Given the description of an element on the screen output the (x, y) to click on. 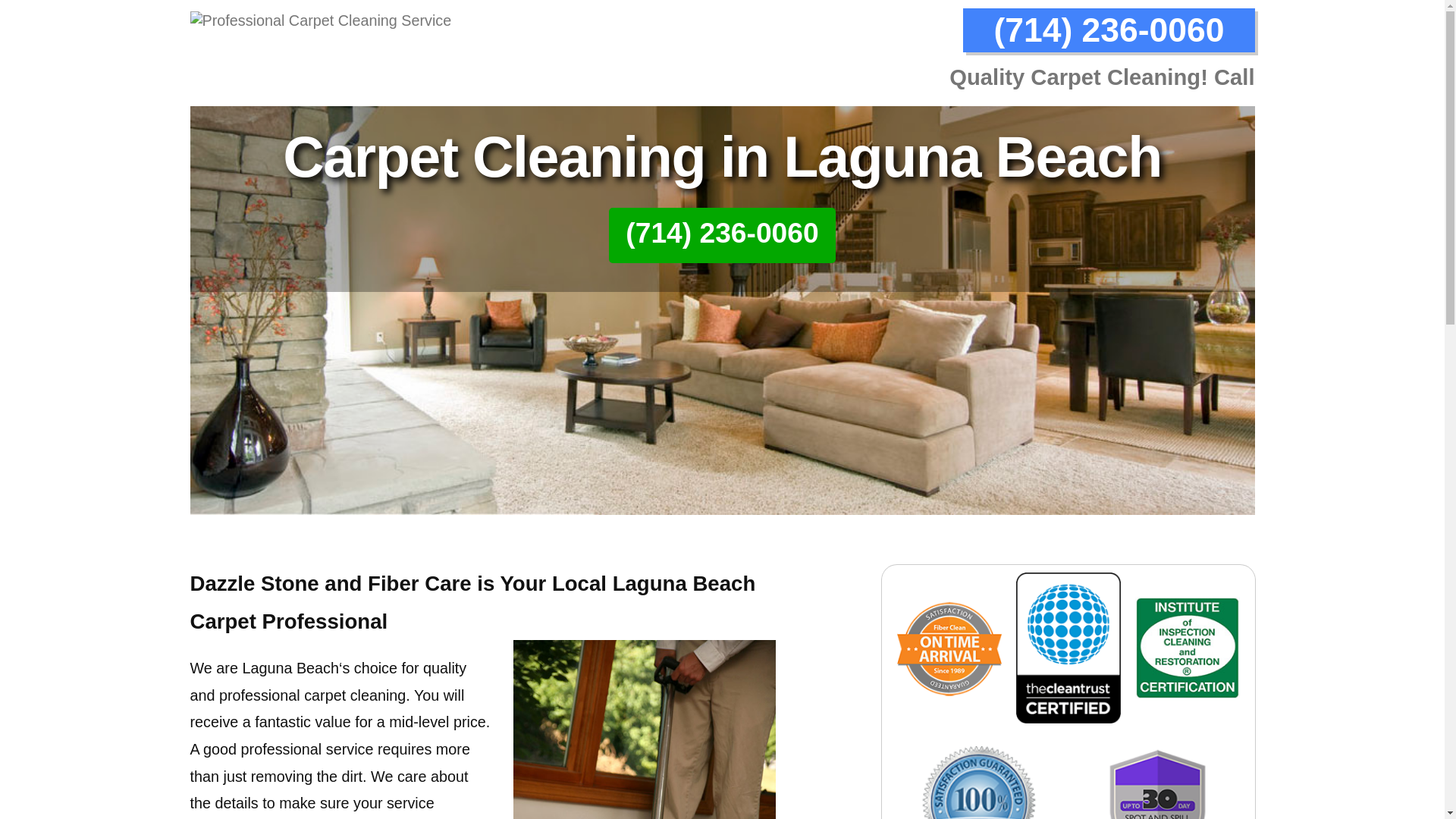
Laguna Beach Local Carpet Cleaning Professional (644, 729)
Institute of Inspection Cleaning and Restoration (1187, 648)
Always on Time (948, 647)
Spot and Spill Warranty (1157, 771)
